Given the description of an element on the screen output the (x, y) to click on. 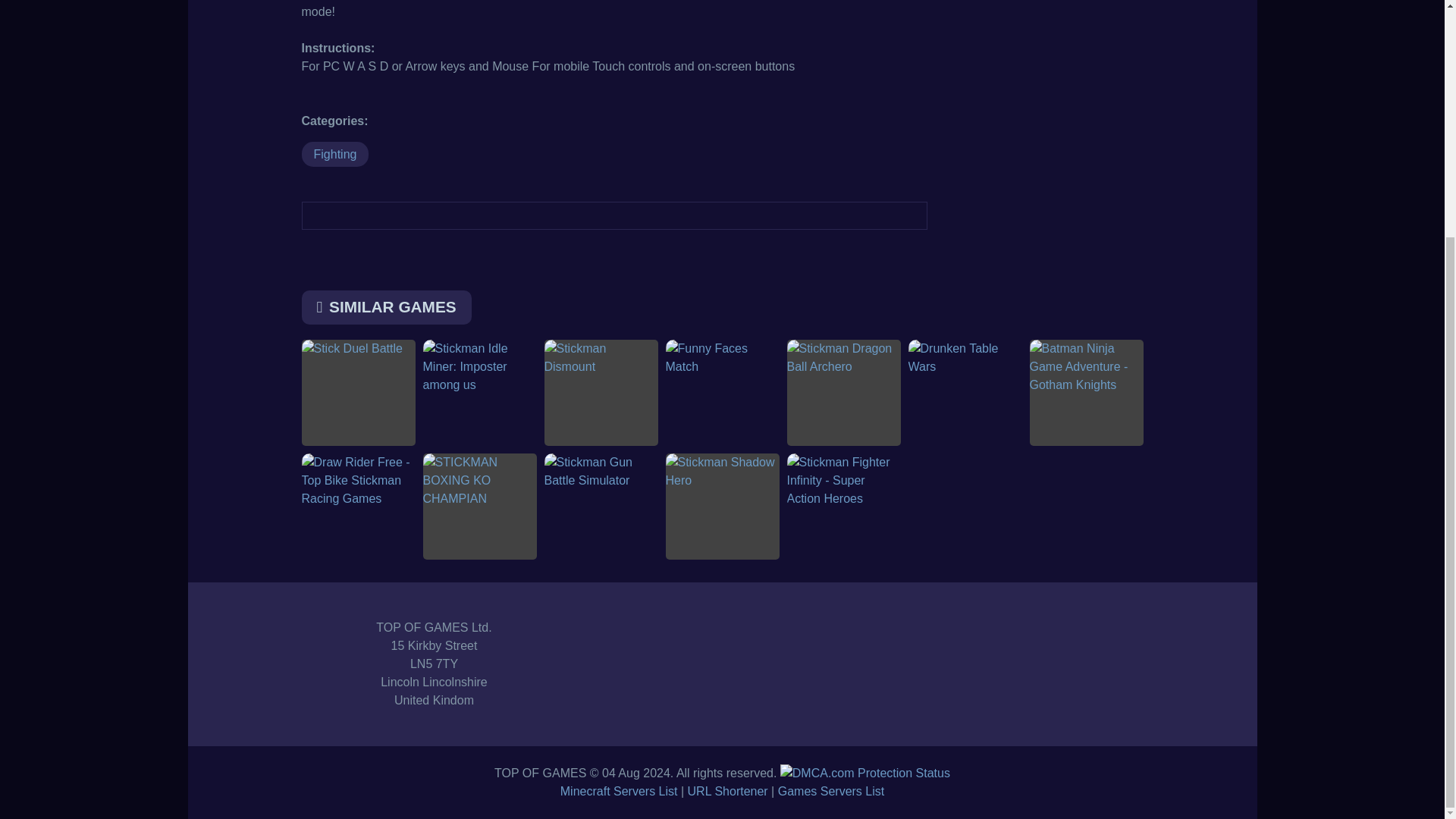
Games Servers List (830, 790)
Free Minecraft Servers List (619, 790)
Free URL Shortener (727, 790)
DMCA.com Protection Status (865, 772)
